Given the description of an element on the screen output the (x, y) to click on. 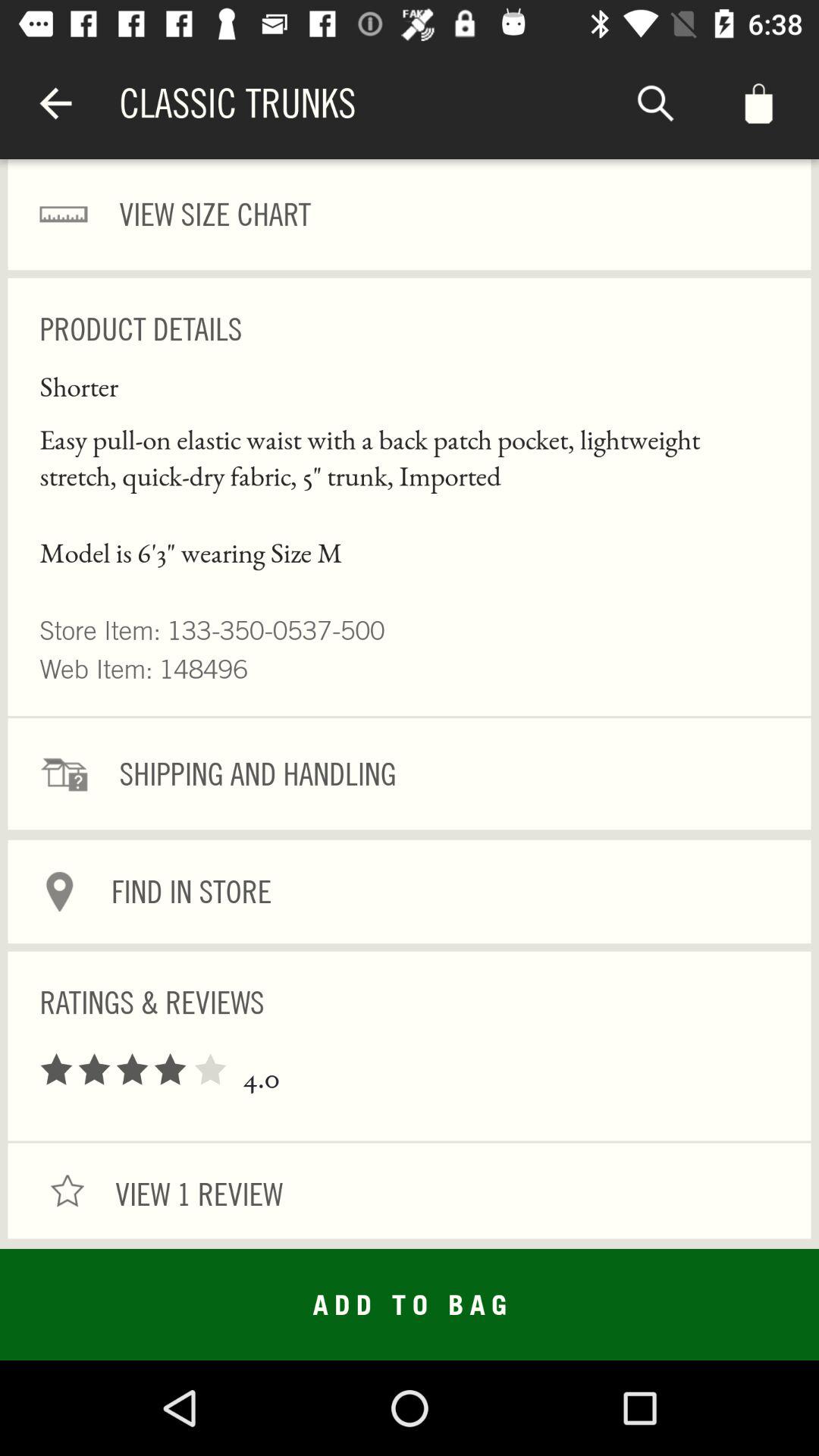
tap the icon above the find in store icon (409, 773)
